Given the description of an element on the screen output the (x, y) to click on. 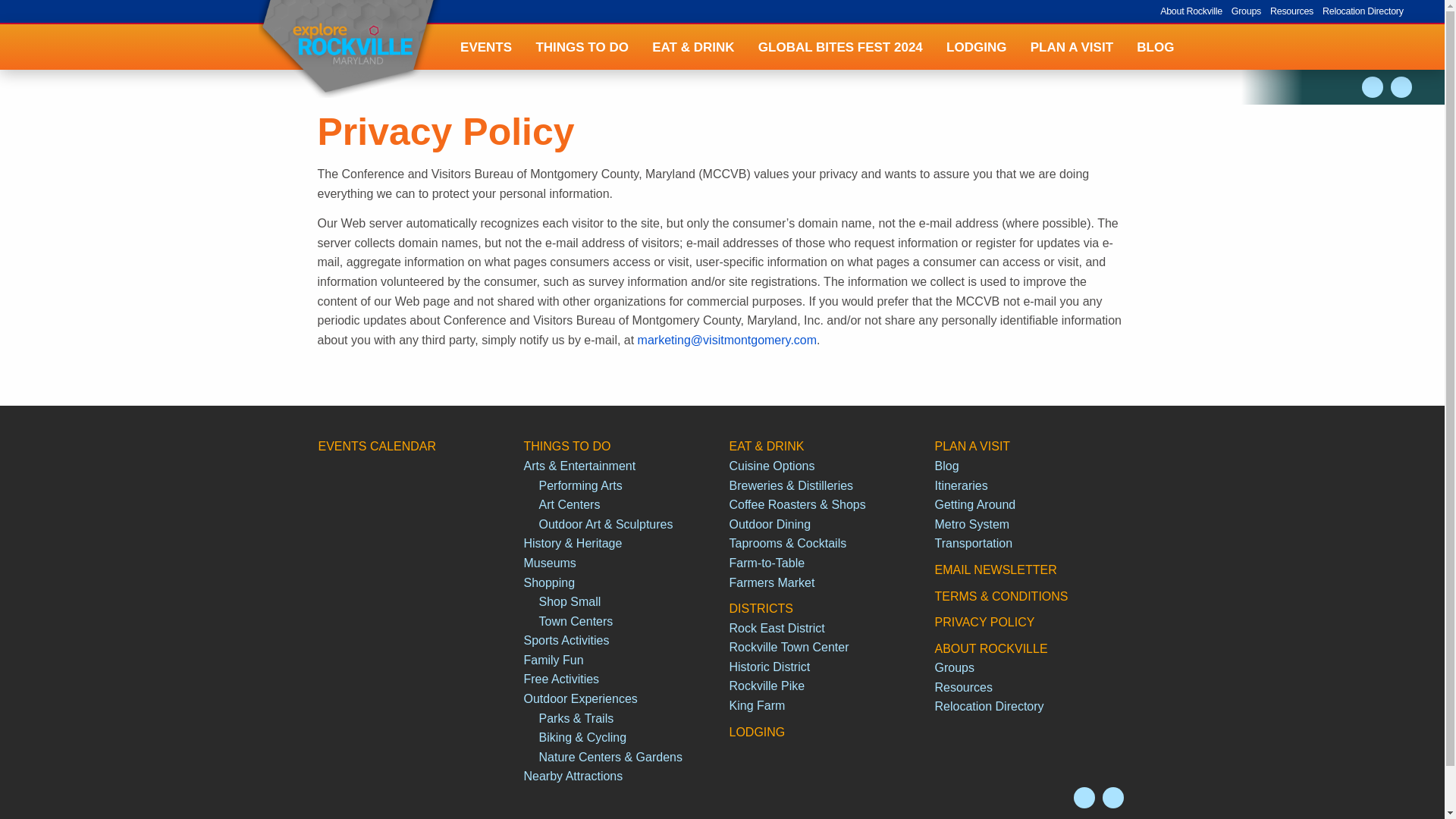
THINGS TO DO (582, 46)
PLAN A VISIT (1071, 46)
Relocation Directory (1362, 11)
BLOG (1155, 46)
GLOBAL BITES FEST 2024 (839, 46)
Facebook (1113, 797)
Resources (1291, 11)
LODGING (975, 46)
Instagram (1084, 797)
Facebook (1401, 86)
About Rockville (1191, 11)
Instagram (1372, 86)
EVENTS (485, 46)
Groups (1246, 11)
